Given the description of an element on the screen output the (x, y) to click on. 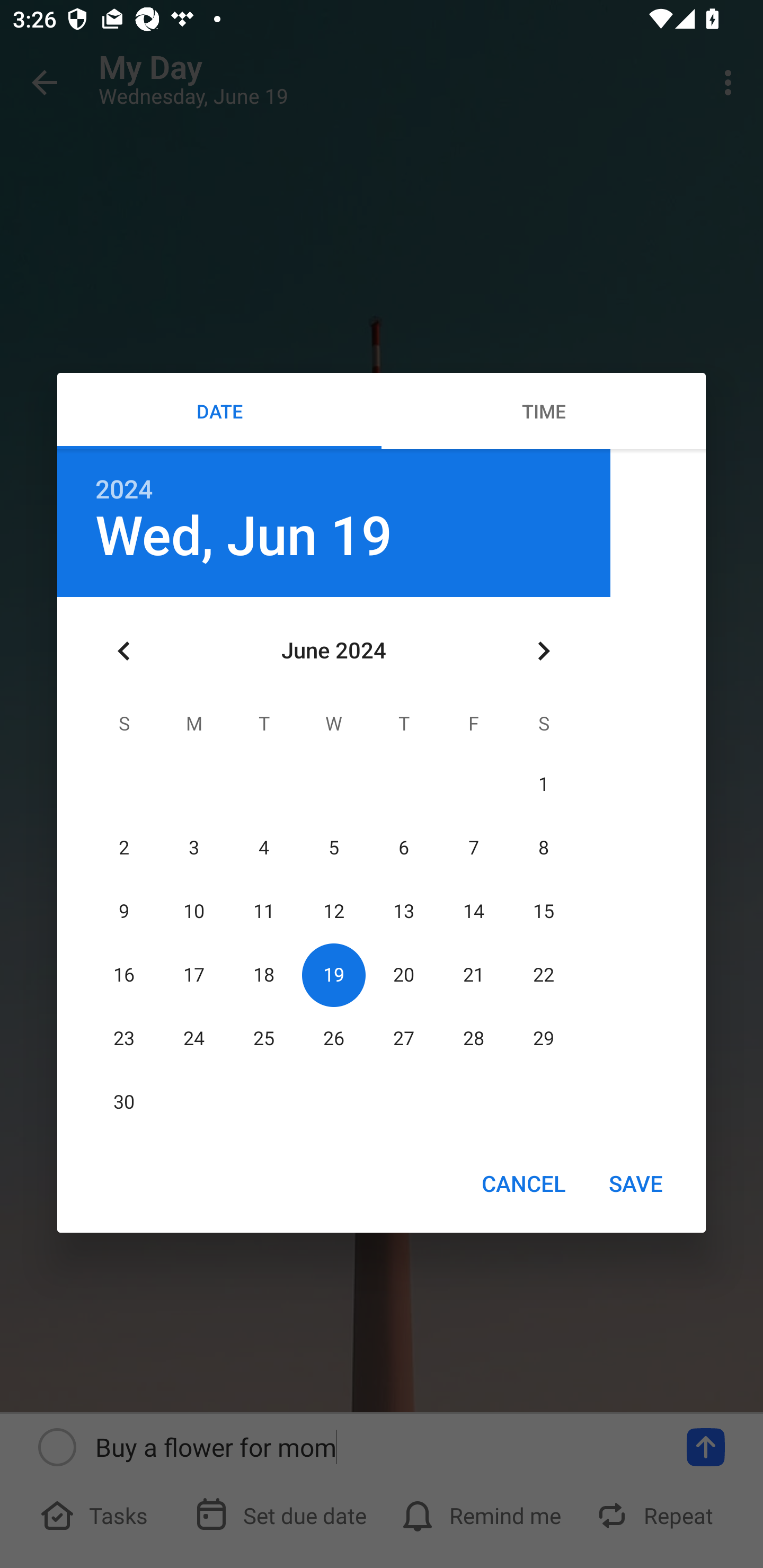
Time TIME (543, 410)
